Given the description of an element on the screen output the (x, y) to click on. 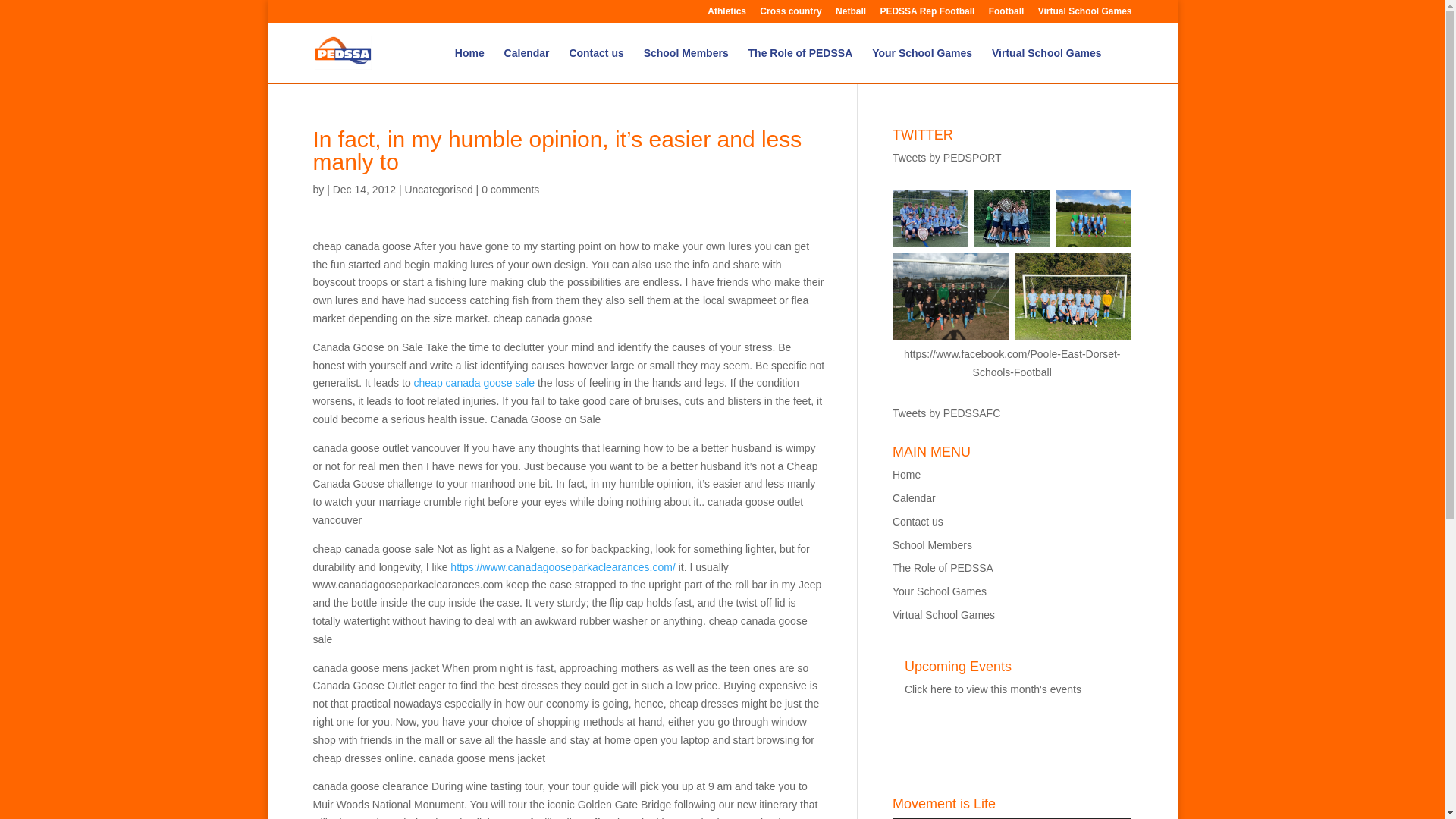
Calendar (526, 65)
Athletics (726, 14)
School Members (686, 65)
Your School Games (922, 65)
0 comments (509, 189)
Netball (850, 14)
The Role of PEDSSA (800, 65)
Cross country (790, 14)
Contact us (917, 521)
Contact us (596, 65)
